Given the description of an element on the screen output the (x, y) to click on. 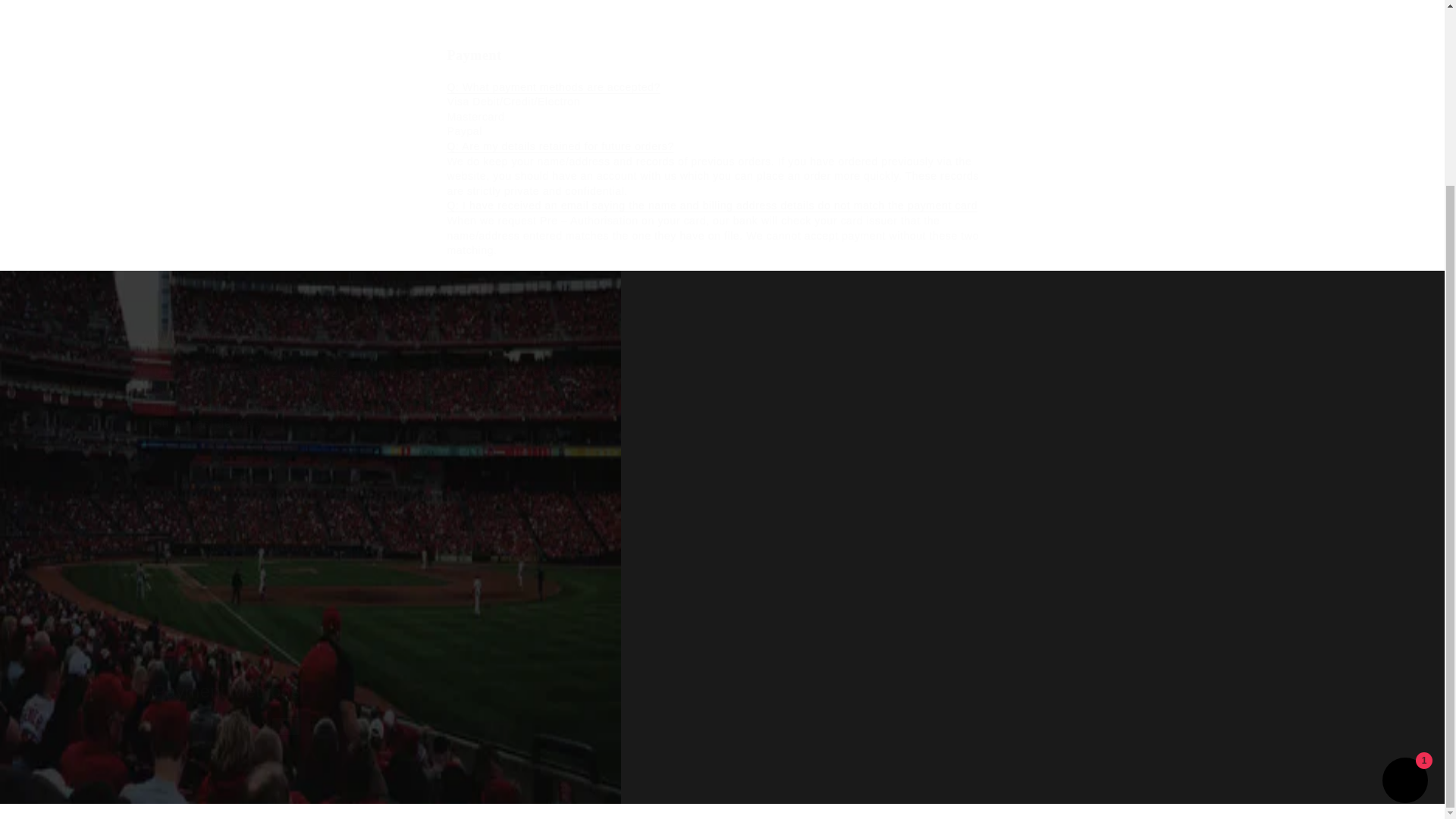
Shopify online store chat (968, 705)
